Given the description of an element on the screen output the (x, y) to click on. 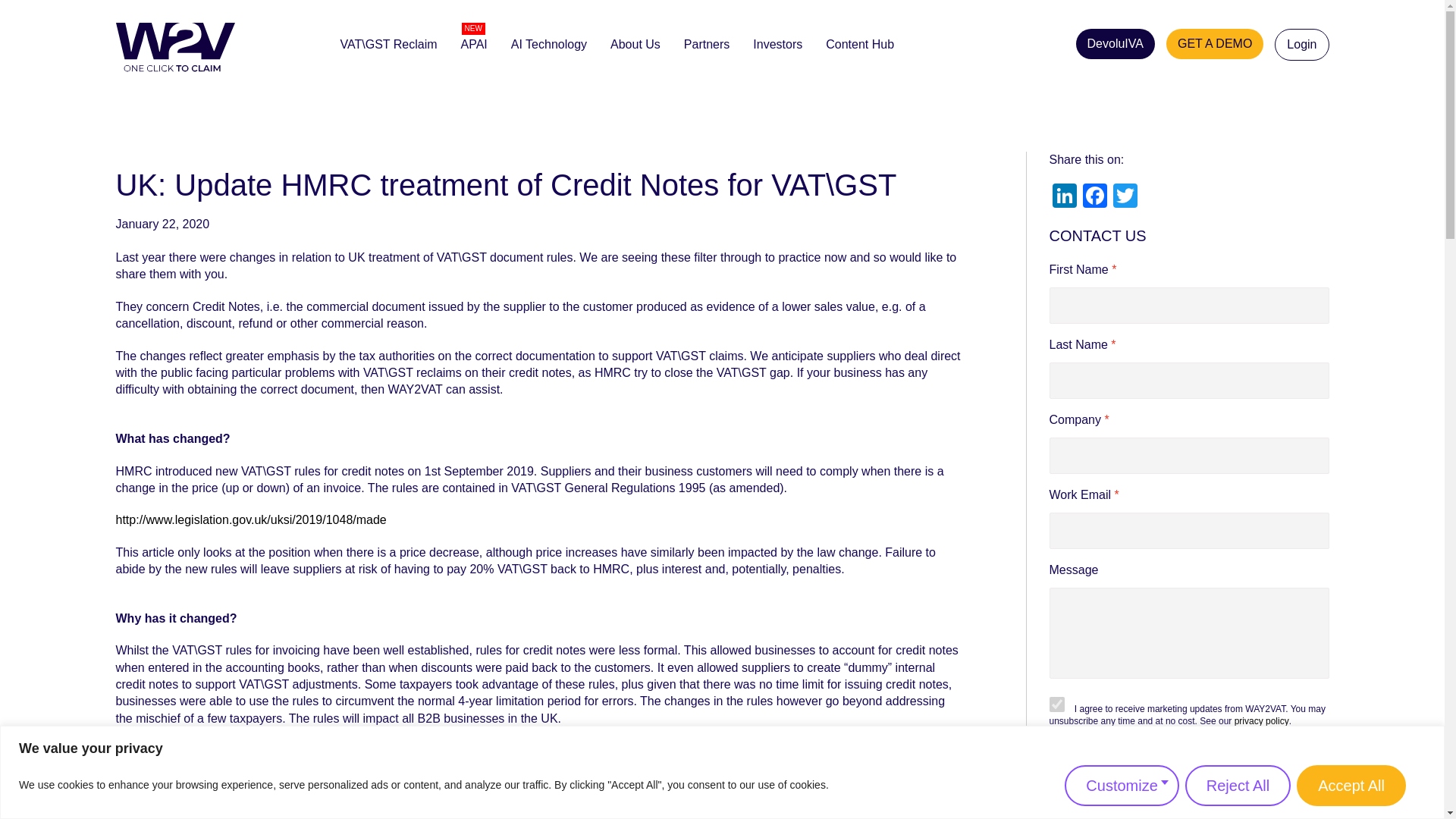
Facebook (1094, 197)
APAI (473, 43)
DevoluIVA (1114, 43)
Content Hub (859, 43)
About Us (635, 43)
Reject All (1237, 784)
privacy policy (1261, 720)
LinkedIn (1064, 197)
Twitter (1124, 197)
Facebook (1094, 197)
